Given the description of an element on the screen output the (x, y) to click on. 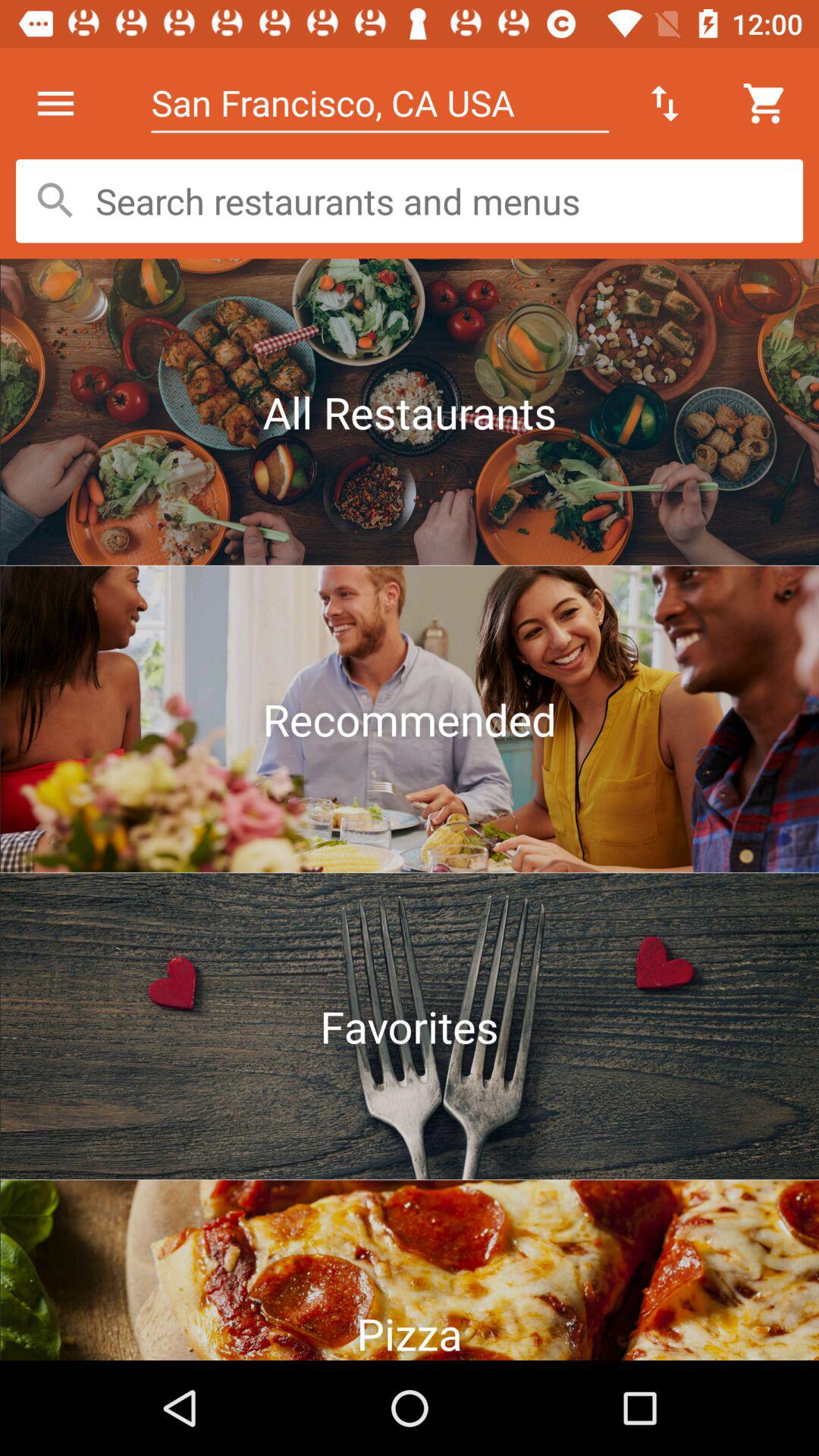
select the icon next to san francisco ca icon (55, 103)
